Given the description of an element on the screen output the (x, y) to click on. 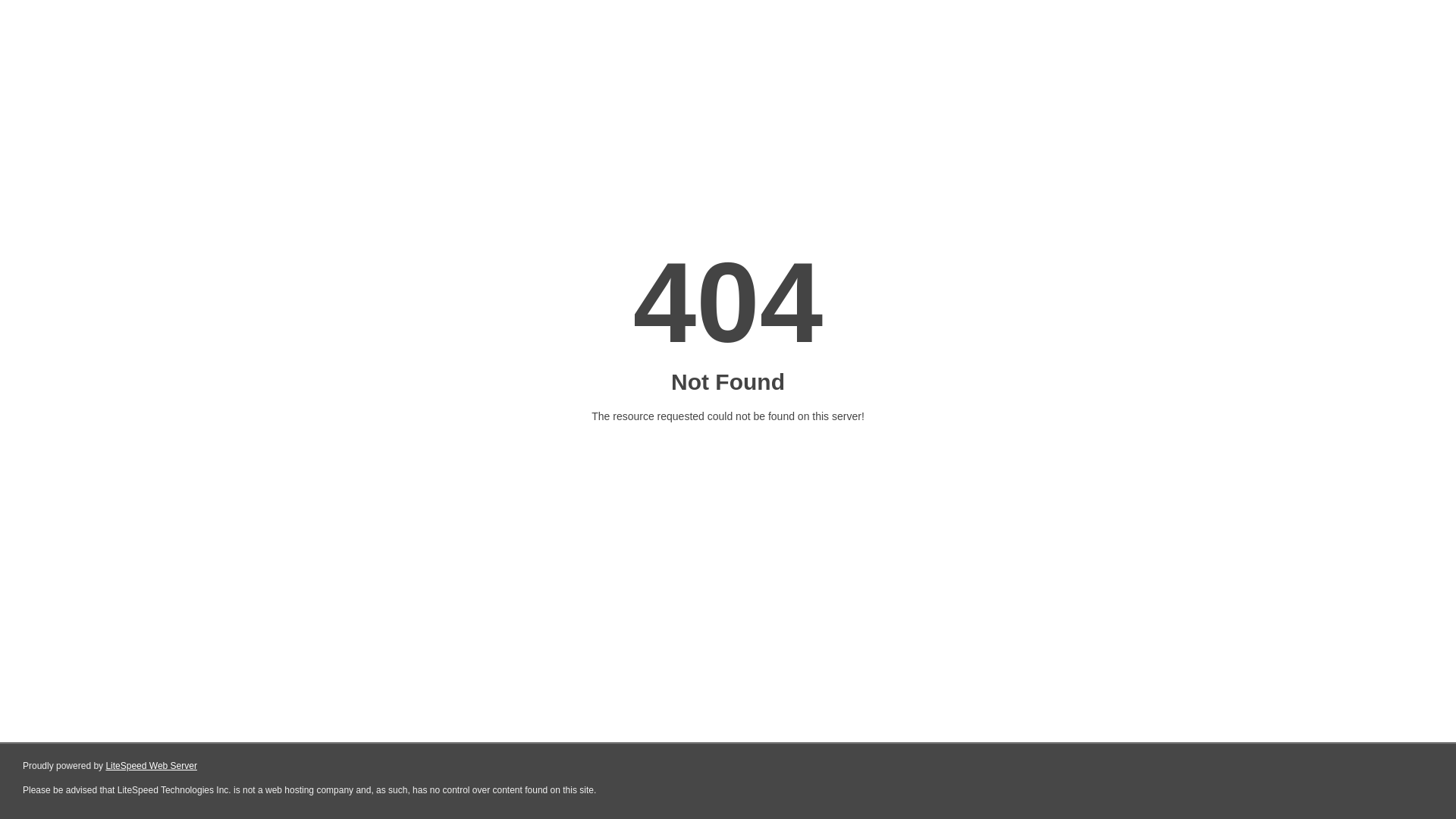
LiteSpeed Web Server Element type: text (151, 765)
